Given the description of an element on the screen output the (x, y) to click on. 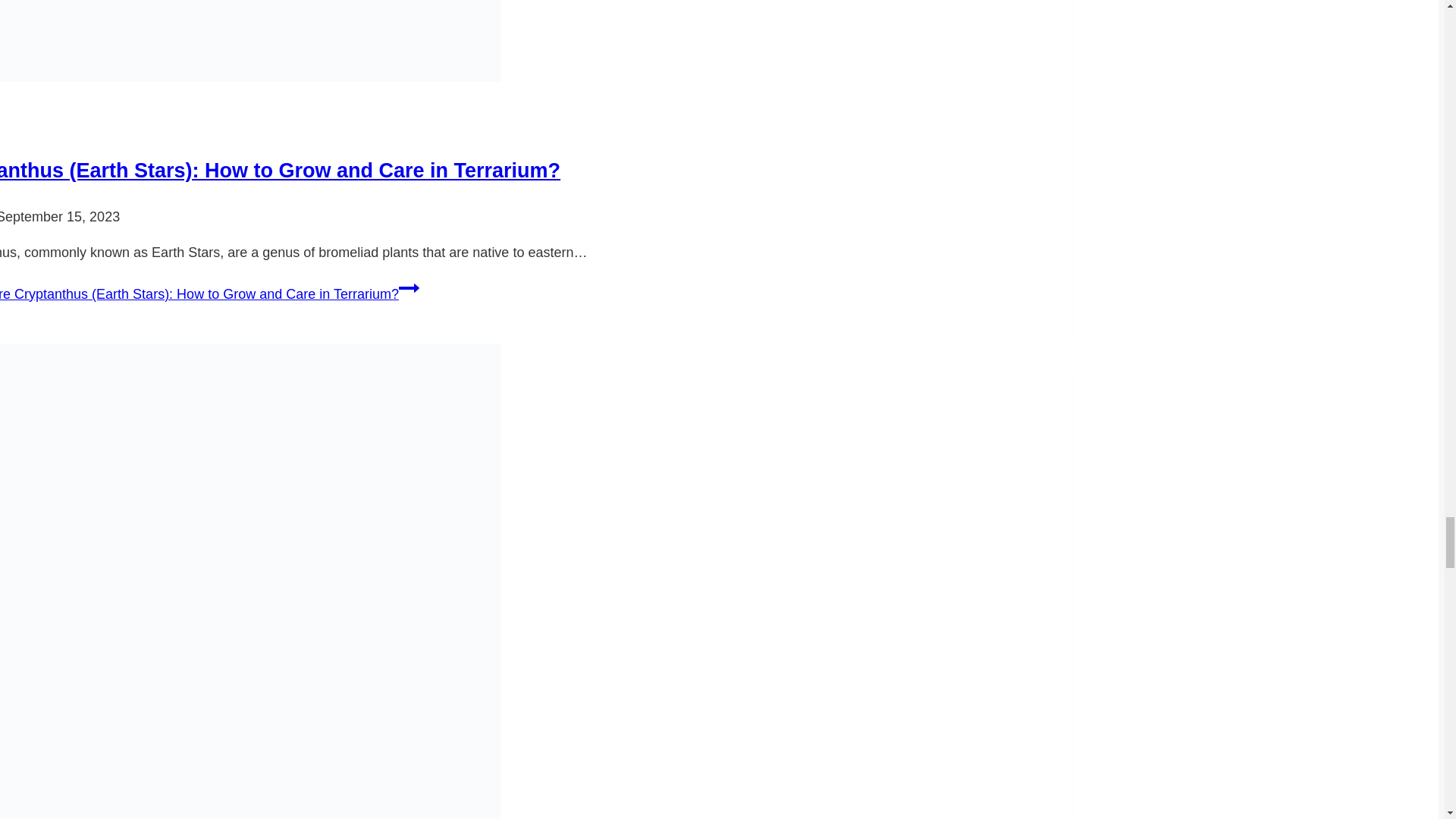
Continue (408, 287)
